Given the description of an element on the screen output the (x, y) to click on. 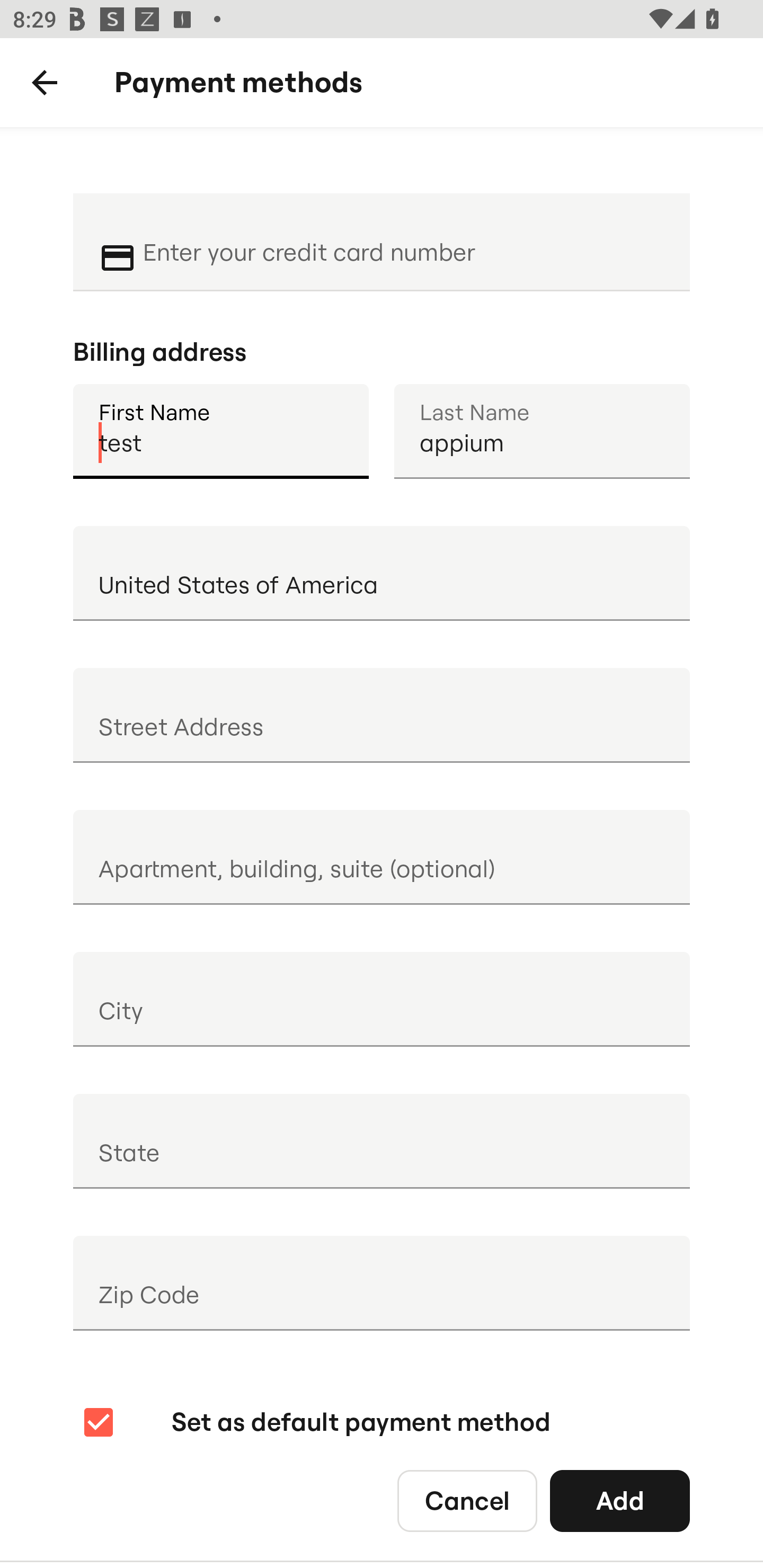
Back (44, 82)
Enter your credit card number (403, 240)
test (220, 431)
appium (541, 431)
United States of America (381, 572)
Street Address (381, 714)
Apartment, building, suite (optional) (381, 857)
City (381, 999)
State (381, 1141)
Zip Code (381, 1283)
Set as default payment method (314, 1421)
Cancel (467, 1500)
Add (619, 1500)
